Given the description of an element on the screen output the (x, y) to click on. 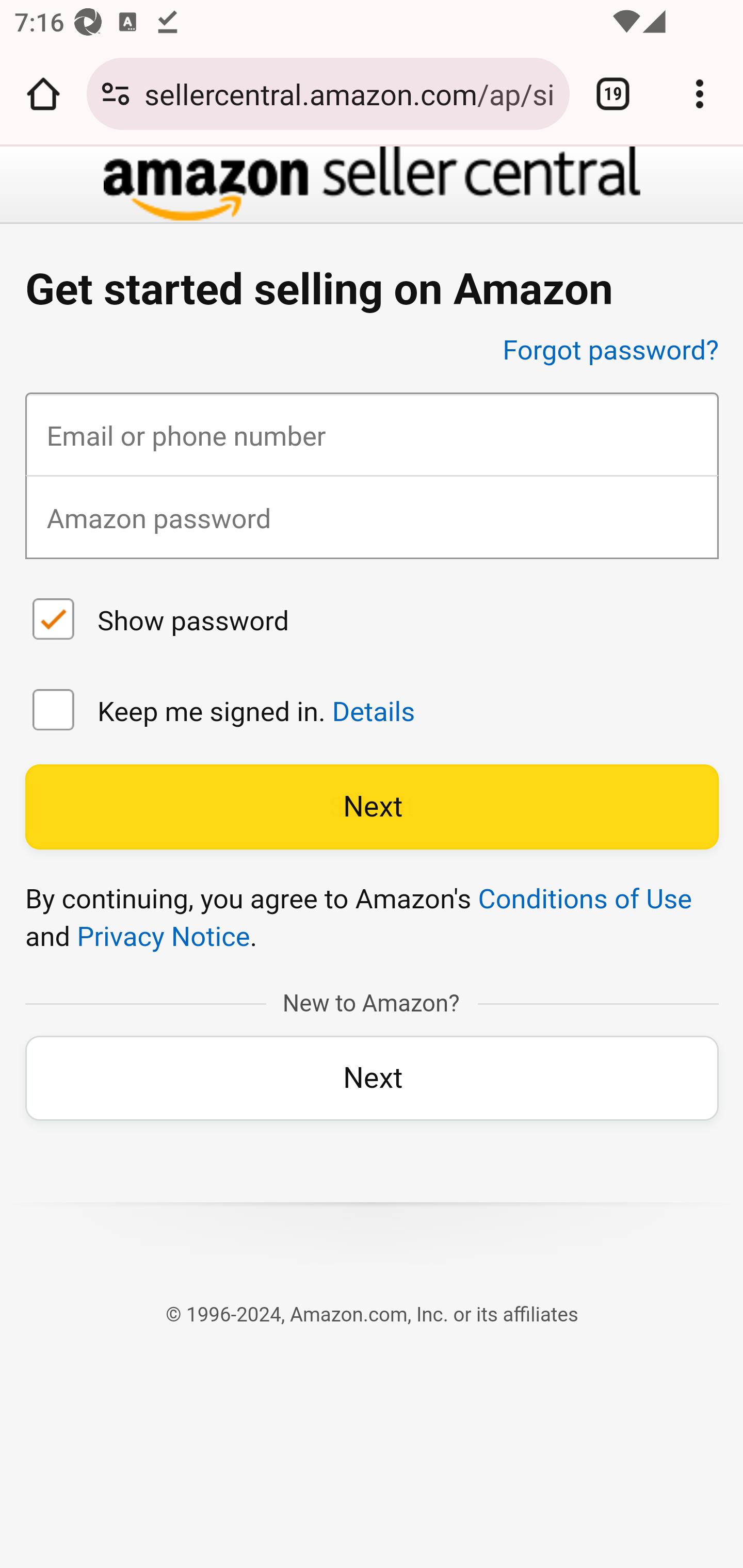
Open the home page (43, 93)
Connection is secure (115, 93)
Switch or close tabs (612, 93)
Customize and control Google Chrome (699, 93)
Forgot password? (610, 350)
Show password (53, 620)
Keep me signed in. Details (53, 711)
Details (372, 711)
Next (371, 807)
Conditions of Use (585, 898)
Privacy Notice (163, 937)
Next (371, 1078)
